Given the description of an element on the screen output the (x, y) to click on. 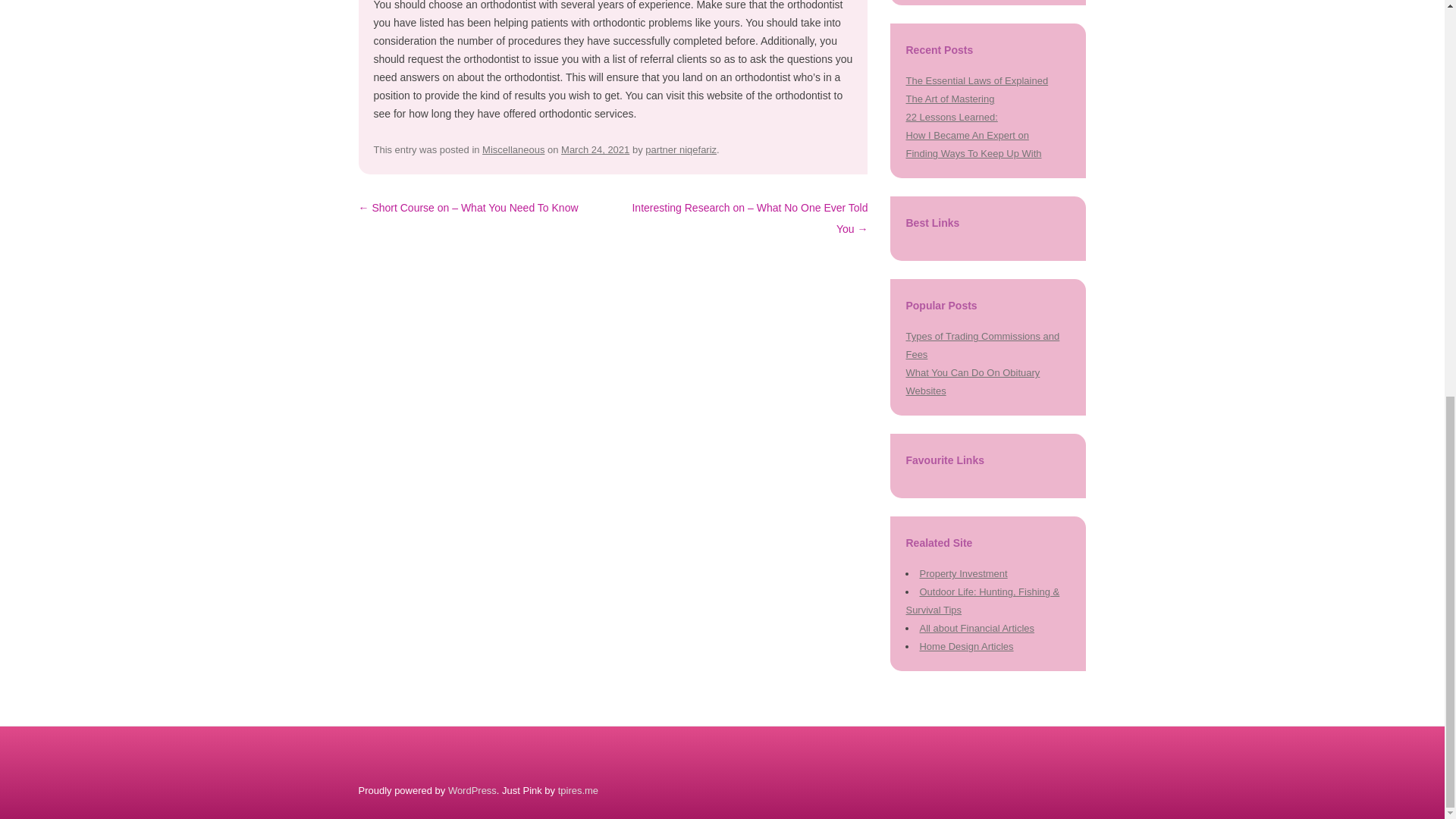
Semantic Personal Publishing Platform (472, 790)
partner niqefariz (680, 149)
The Essential Laws of Explained (976, 80)
View all posts by partner niqefariz (680, 149)
11:45 am (594, 149)
The Art of Mastering (949, 98)
Types of Trading Commissions and Fees (982, 345)
22 Lessons Learned: (951, 116)
What You Can Do On Obituary Websites (972, 381)
March 24, 2021 (594, 149)
